Given the description of an element on the screen output the (x, y) to click on. 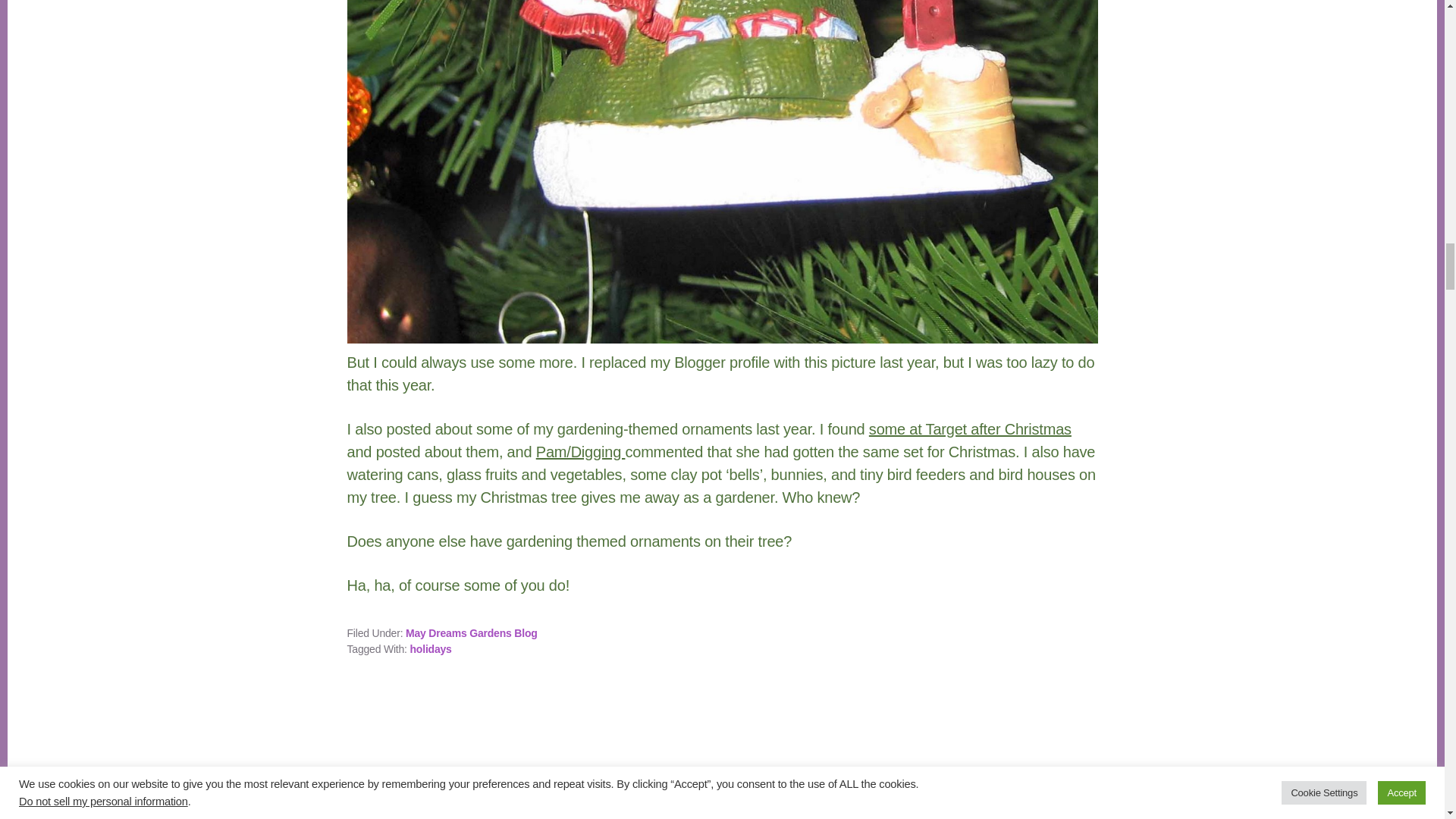
holidays (430, 648)
some at Target after Christmas (970, 428)
May Dreams Gardens Blog (471, 633)
